Given the description of an element on the screen output the (x, y) to click on. 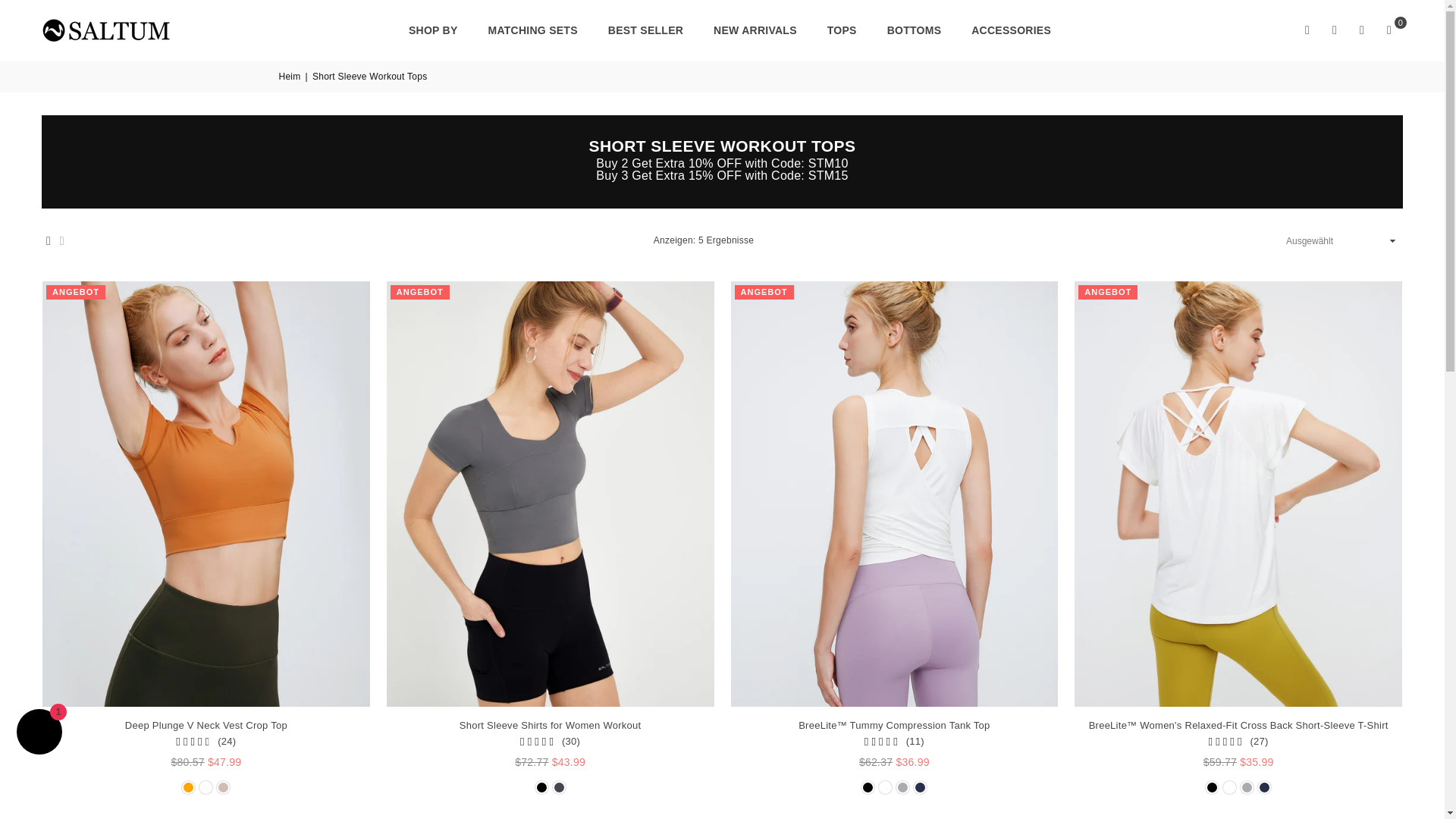
Orange (188, 787)
Black (541, 787)
Einstellungen (1334, 30)
TOPS (841, 29)
White (205, 787)
NEW ARRIVALS (754, 29)
SHOP BY (432, 29)
Suche (1307, 30)
BEST SELLER (645, 29)
Einkaufswagen (1389, 30)
LightCoffee (223, 787)
MATCHING SETS (533, 29)
Wunschzettel (1361, 30)
